Given the description of an element on the screen output the (x, y) to click on. 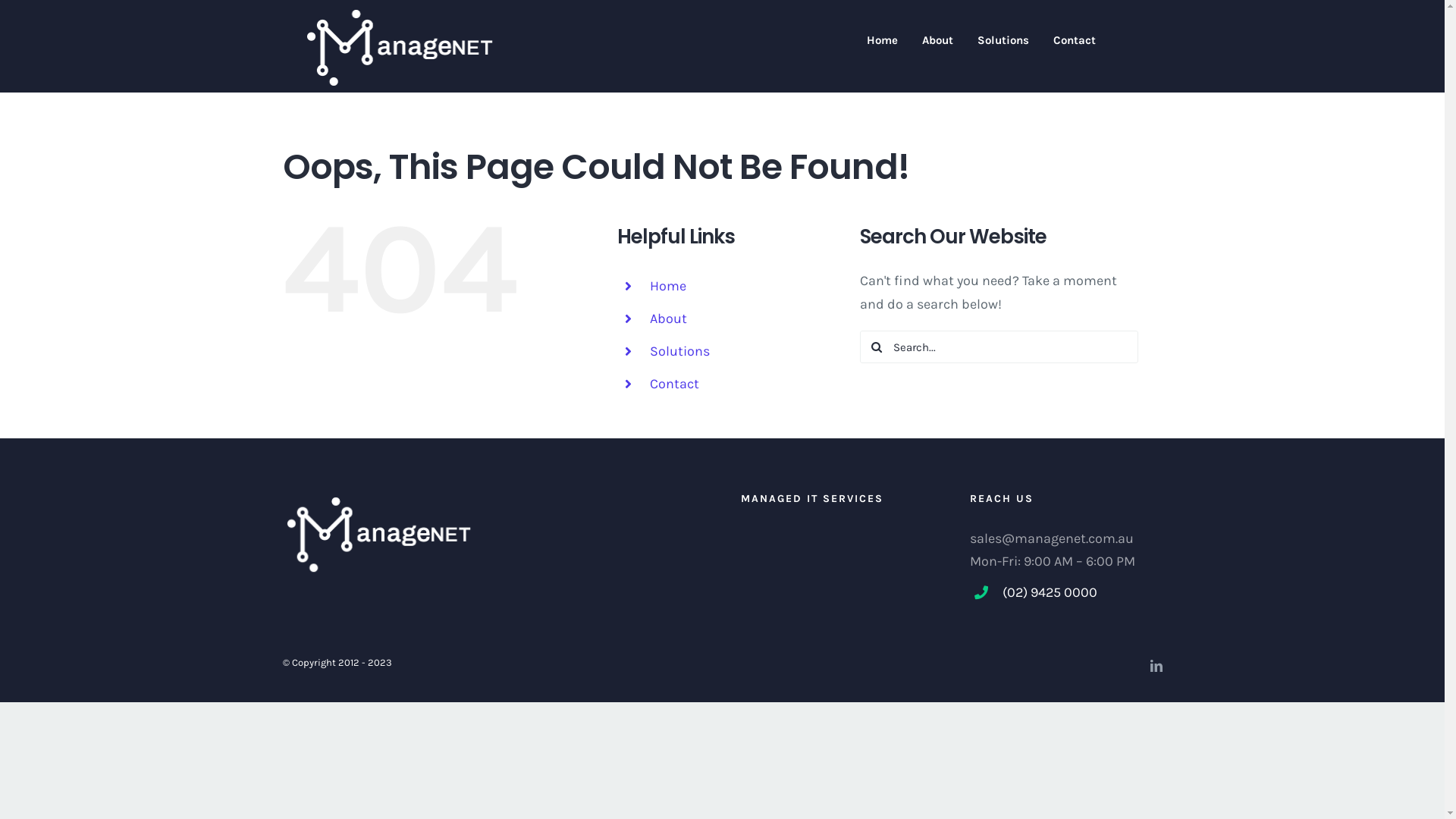
Home Element type: text (881, 38)
Solutions Element type: text (679, 350)
Contact Element type: text (674, 383)
Contact Element type: text (1074, 38)
LinkedIn Element type: text (1155, 665)
Home Element type: text (667, 285)
About Element type: text (668, 318)
About Element type: text (937, 38)
Solutions Element type: text (1003, 38)
